Given the description of an element on the screen output the (x, y) to click on. 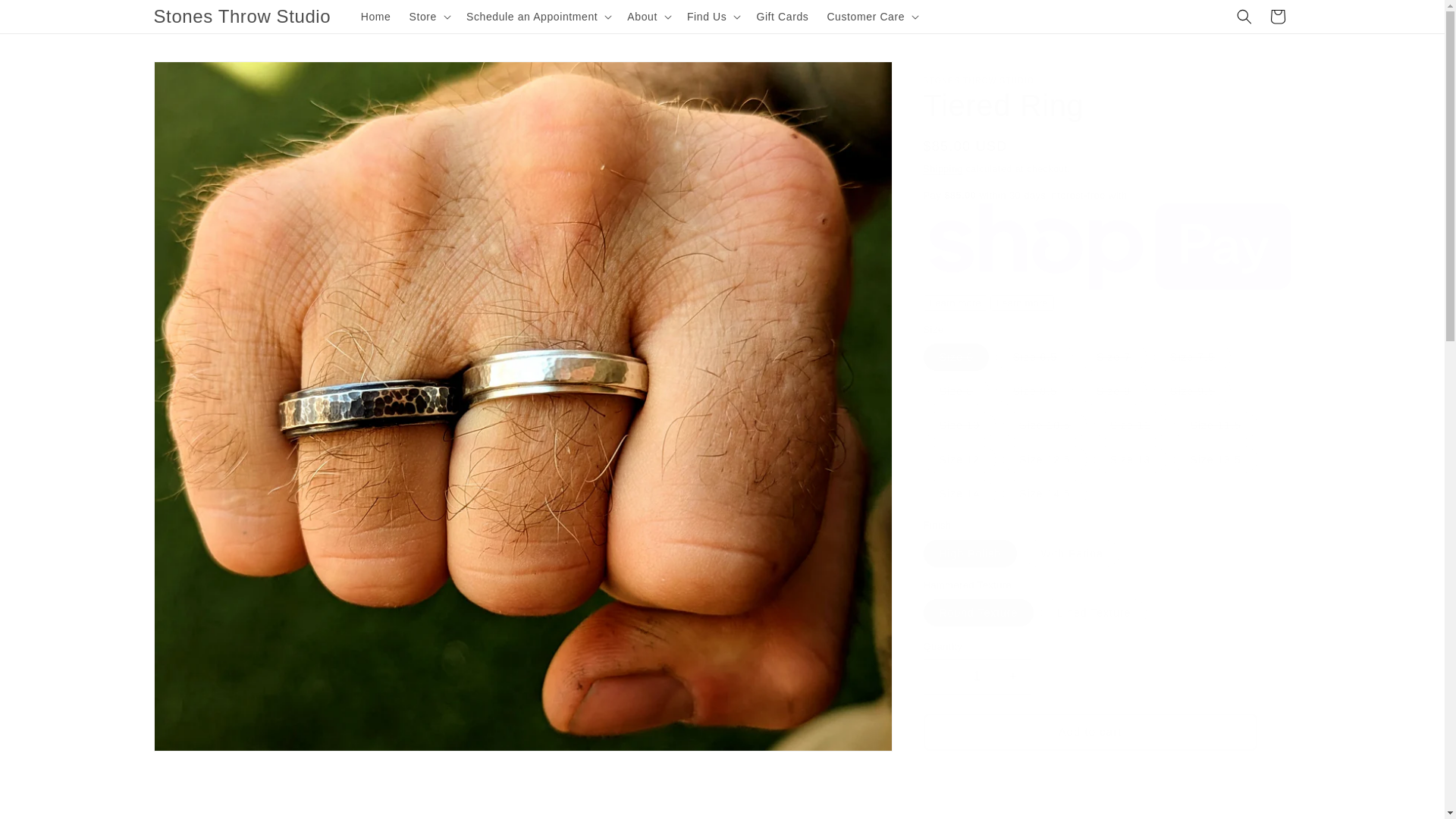
Home (376, 16)
